Given the description of an element on the screen output the (x, y) to click on. 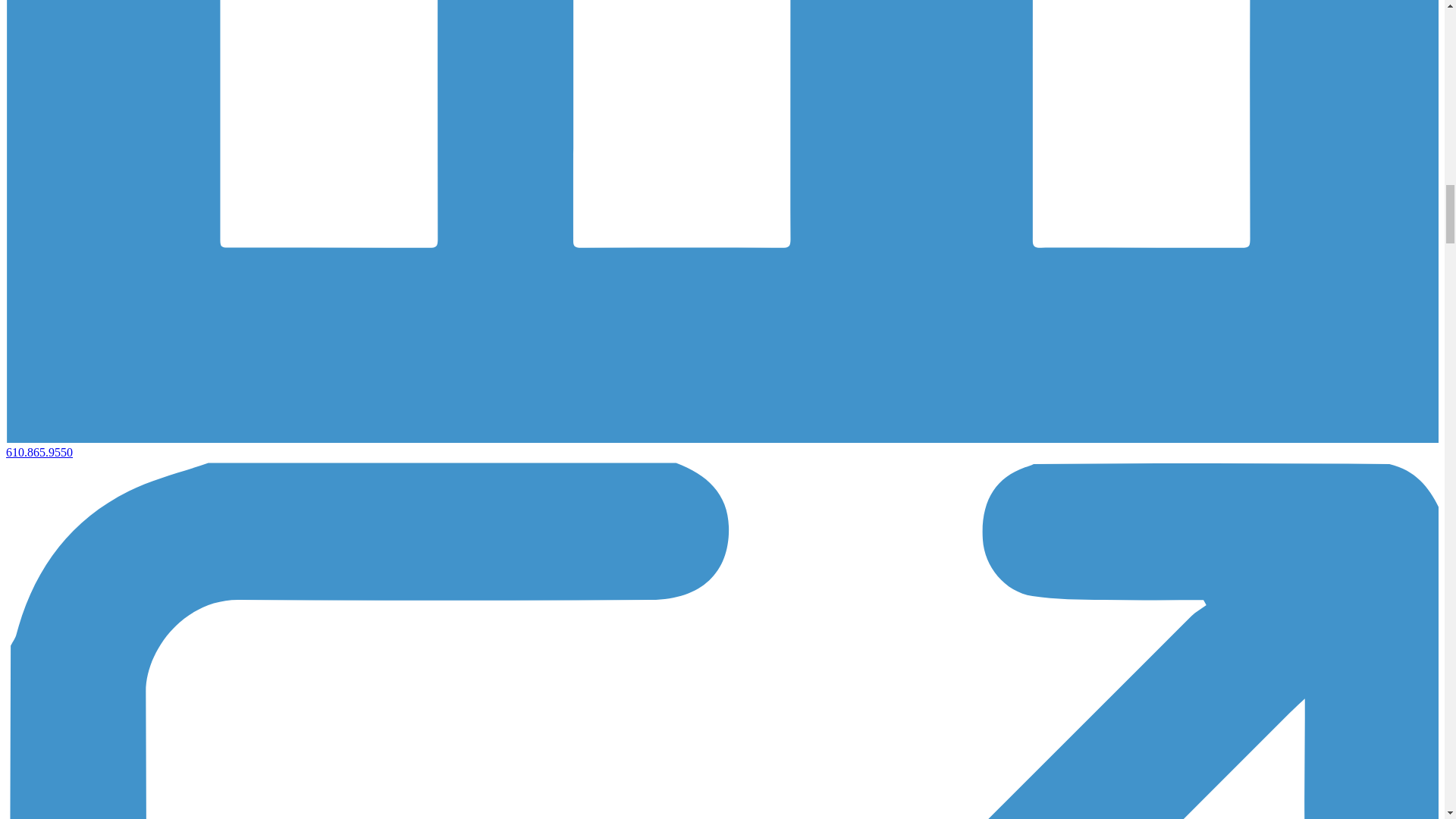
contact-link (38, 451)
610.865.9550 (38, 451)
